Given the description of an element on the screen output the (x, y) to click on. 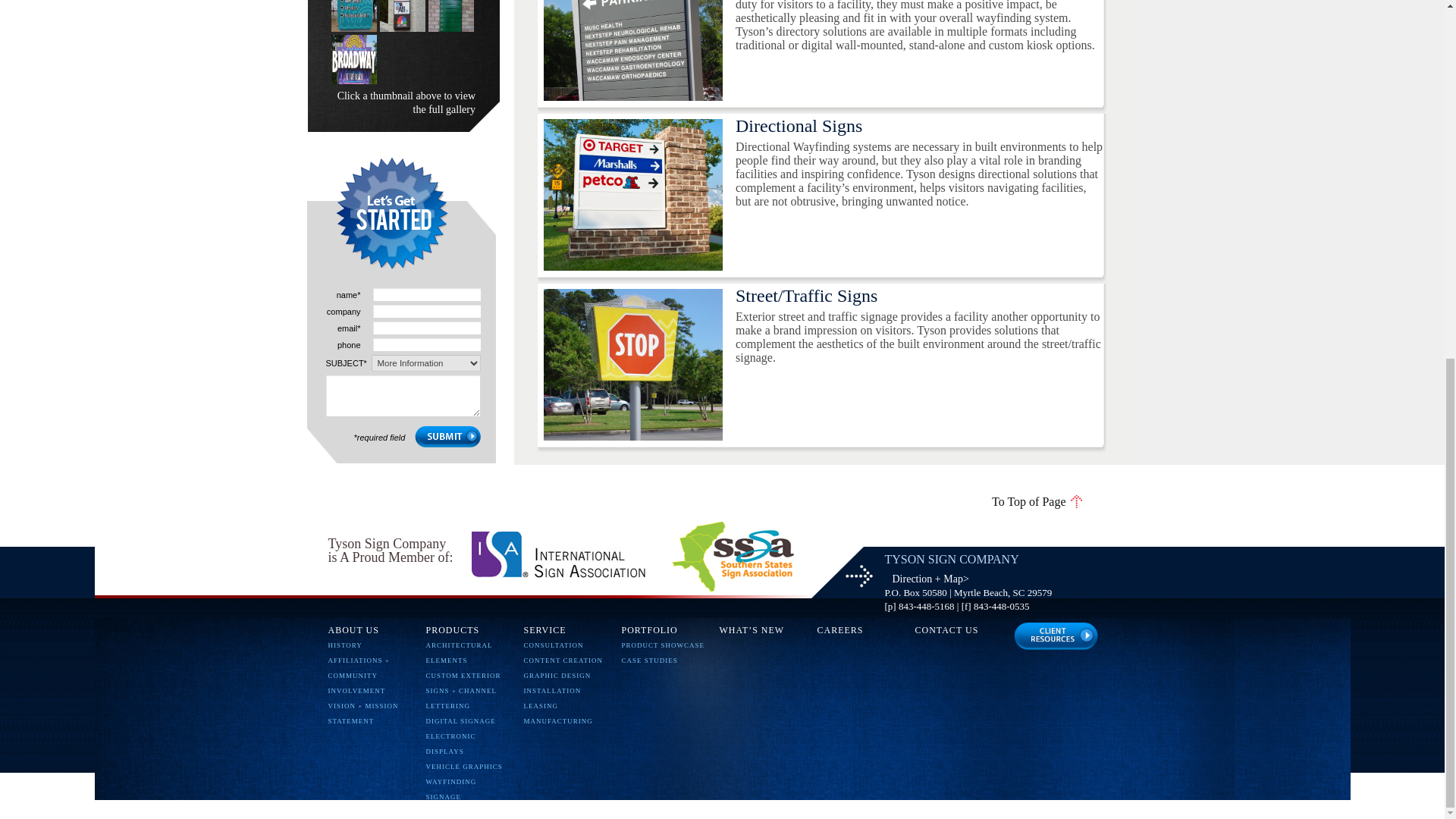
image (1056, 636)
